Given the description of an element on the screen output the (x, y) to click on. 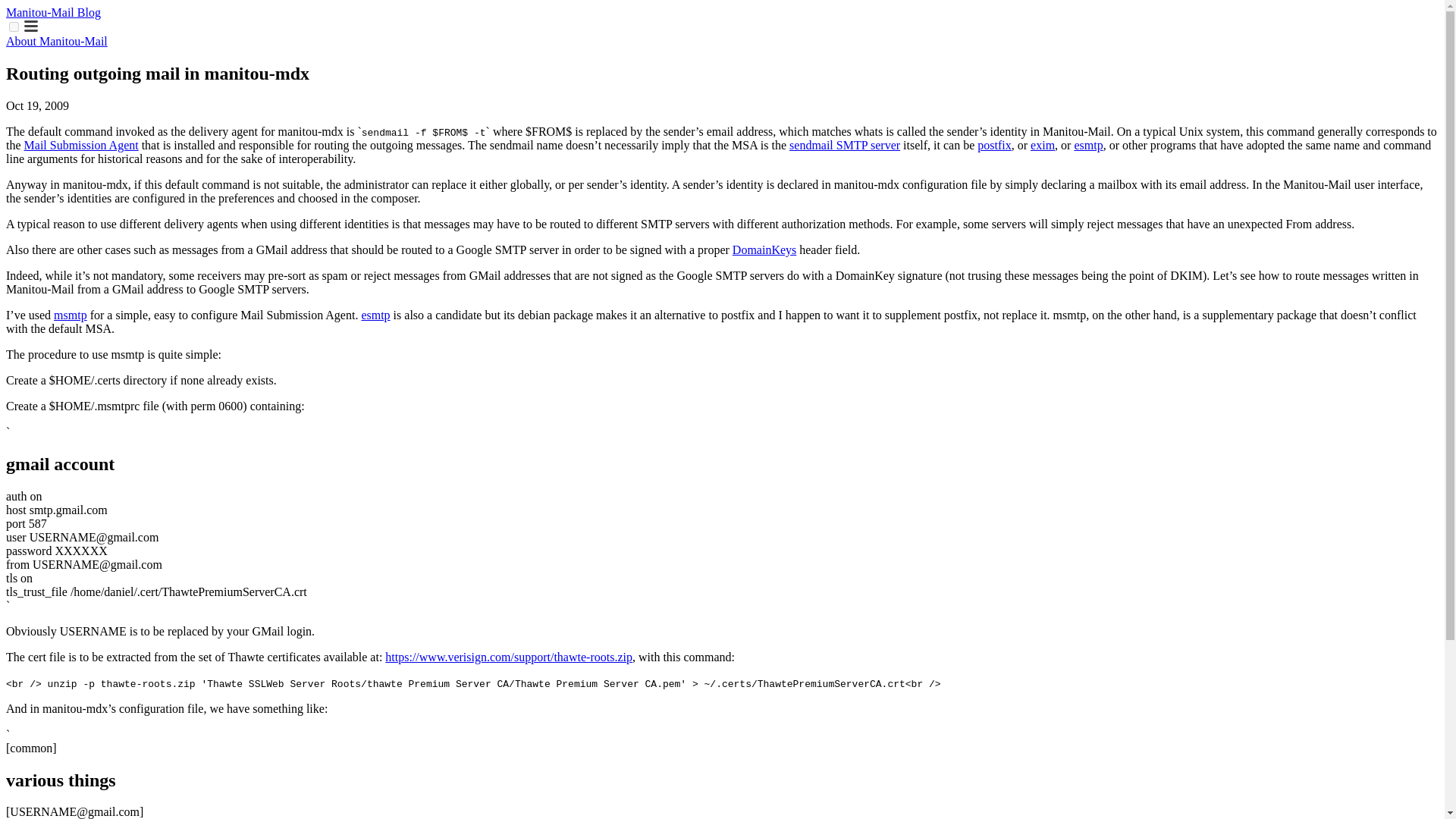
on (13, 26)
About Manitou-Mail (56, 41)
exim (1042, 144)
DomainKeys (764, 249)
Mail Submission Agent (81, 144)
esmtp (375, 314)
postfix (993, 144)
Manitou-Mail Blog (52, 11)
sendmail SMTP server (844, 144)
esmtp (1088, 144)
